Given the description of an element on the screen output the (x, y) to click on. 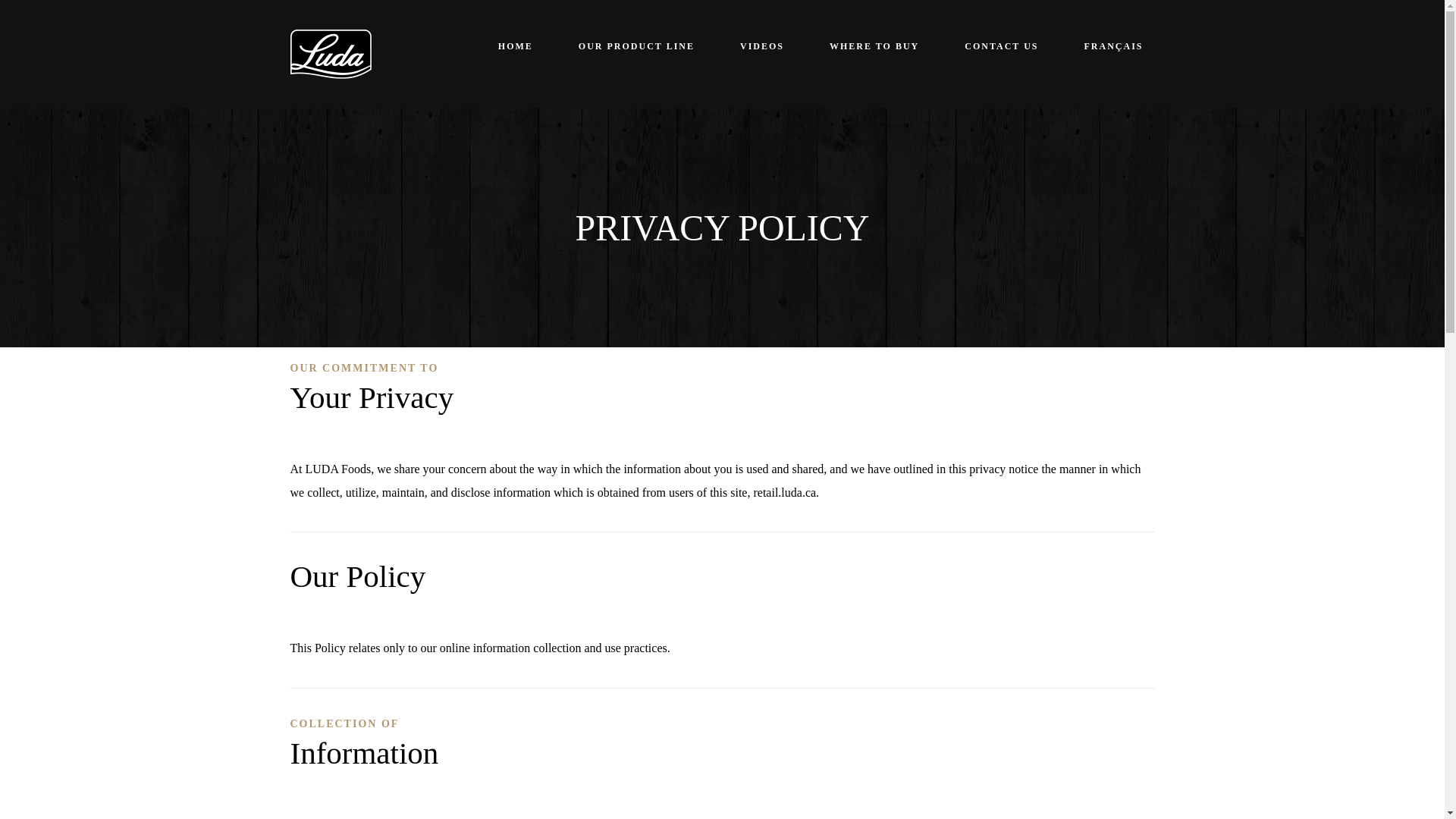
HOME (516, 46)
VIDEOS (761, 46)
Contact Us (1001, 46)
OUR PRODUCT LINE (636, 46)
WHERE TO BUY (874, 46)
WHERE TO BUY (874, 46)
Our Product Line (636, 46)
CONTACT US (1001, 46)
LUDA Foods Retail (330, 52)
Videos (761, 46)
Home (516, 46)
